Given the description of an element on the screen output the (x, y) to click on. 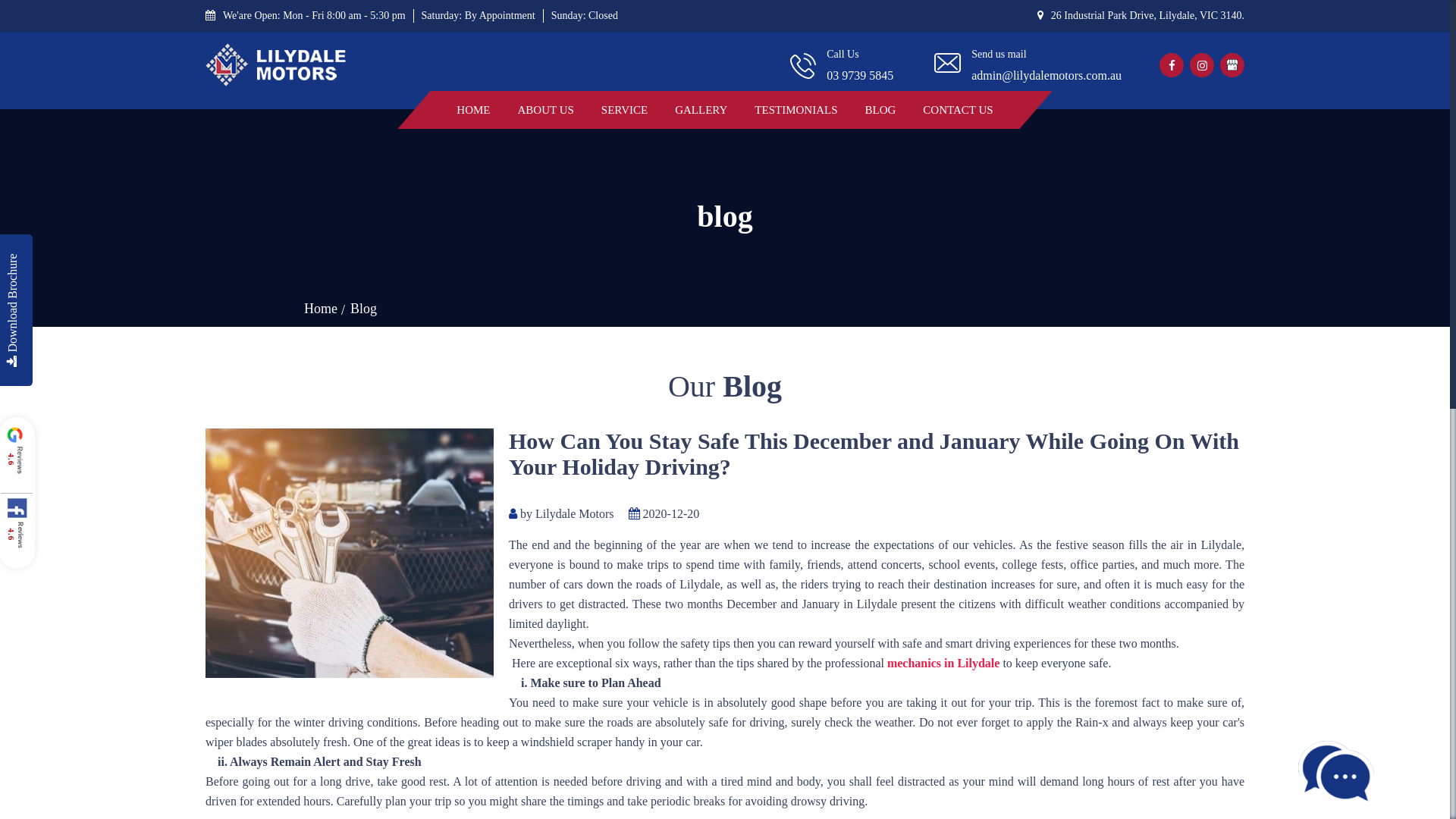
ABOUT US Element type: text (545, 109)
BLOG Element type: text (879, 109)
mechanics in Lilydale Element type: text (943, 663)
CONTACT US Element type: text (957, 109)
Blog Element type: text (363, 308)
HOME Element type: text (472, 109)
admin@lilydalemotors.com.au Element type: text (1046, 74)
03 9739 5845 Element type: text (859, 74)
Home Element type: text (320, 308)
SERVICE Element type: text (624, 109)
GALLERY Element type: text (700, 109)
TESTIMONIALS Element type: text (795, 109)
